Given the description of an element on the screen output the (x, y) to click on. 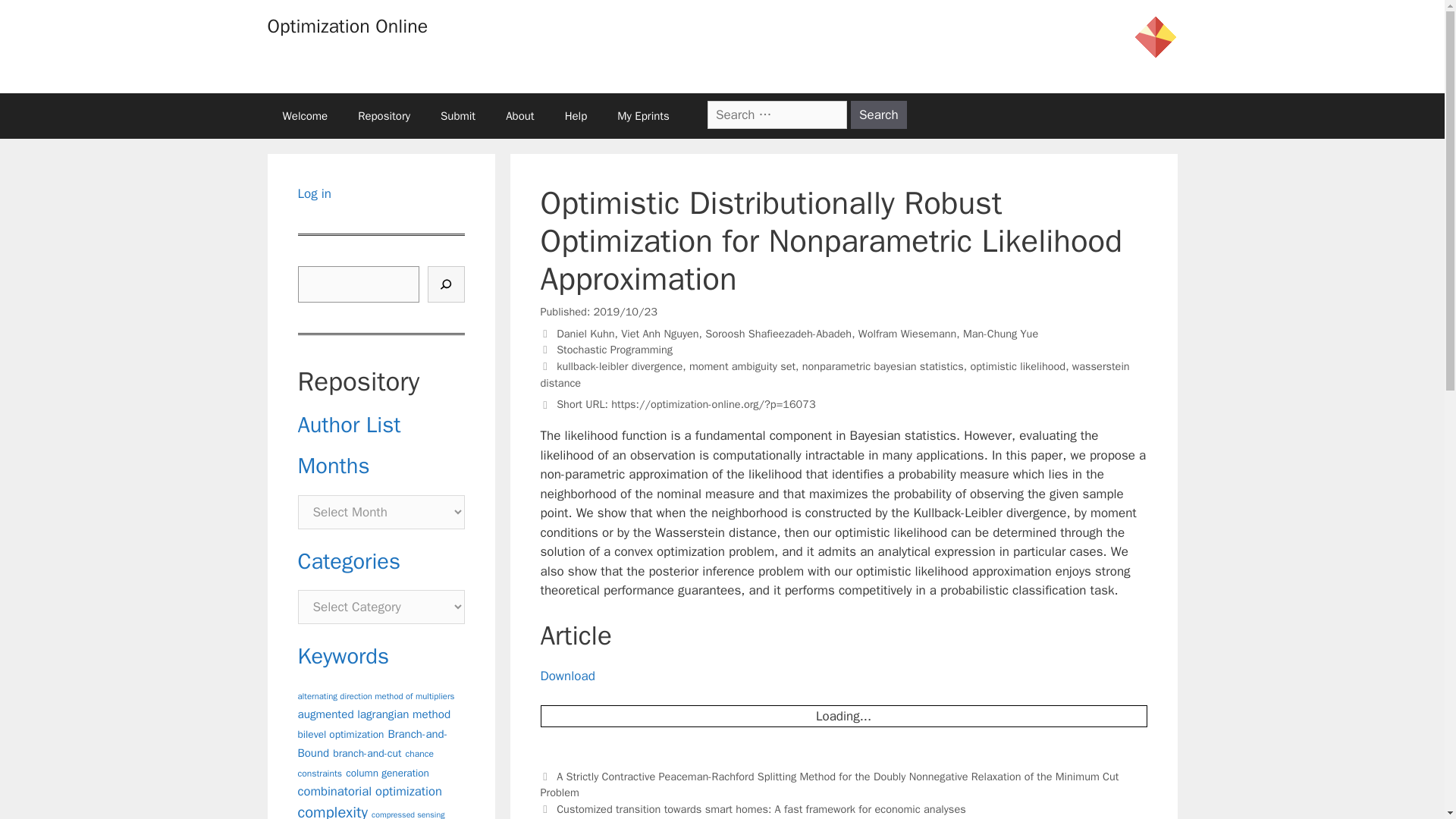
Months (333, 465)
augmented lagrangian method (373, 713)
Welcome (304, 115)
Search (878, 113)
Categories (348, 561)
Help (576, 115)
Man-Chung Yue (1000, 333)
My Eprints (643, 115)
Download (567, 675)
nonparametric bayesian statistics (882, 366)
optimistic likelihood (1017, 366)
wasserstein distance (834, 374)
Search (878, 113)
About (519, 115)
